Given the description of an element on the screen output the (x, y) to click on. 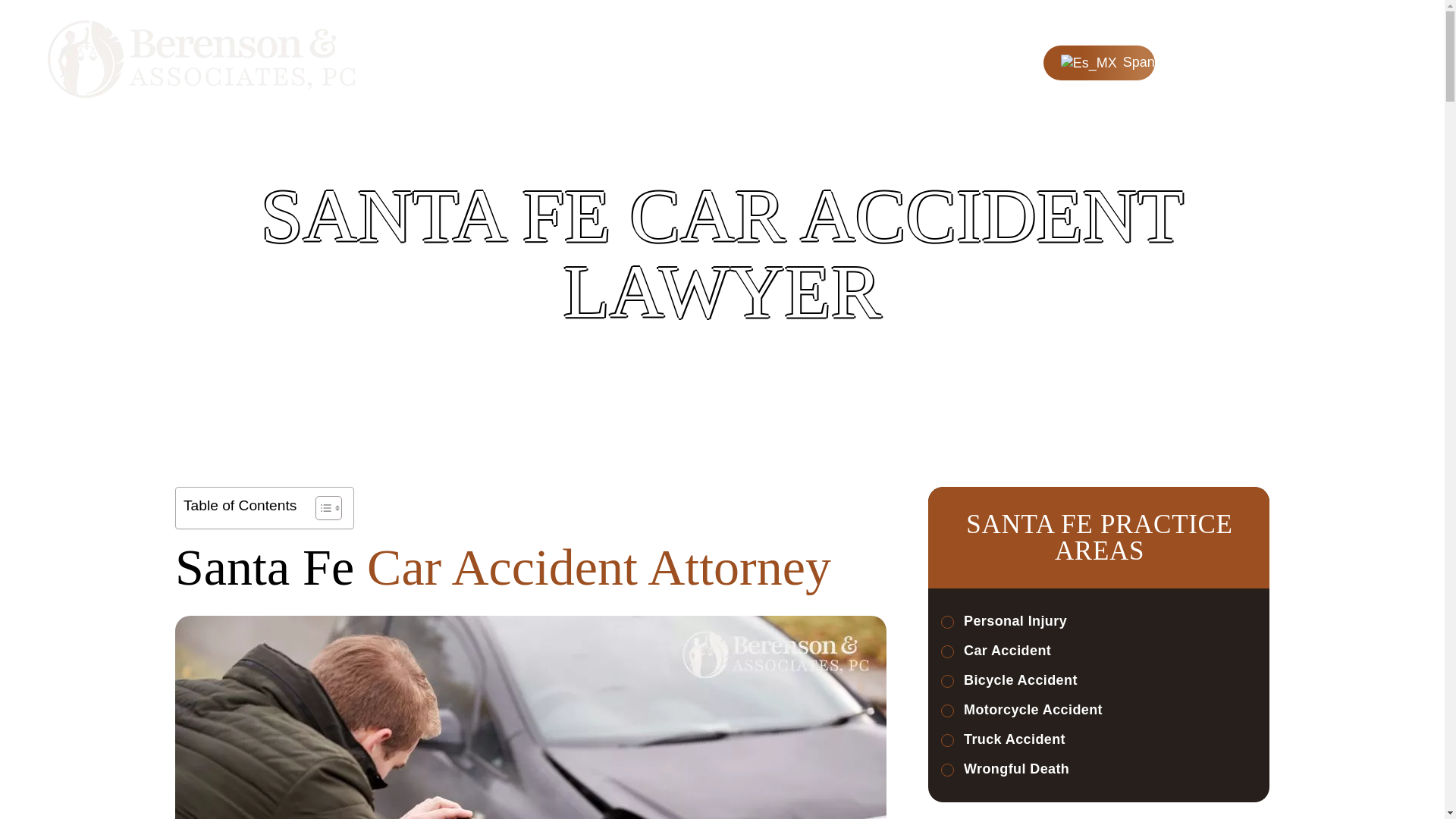
Attorney (546, 61)
About Us (471, 61)
Practice Areas (638, 61)
Home (404, 61)
Locations (735, 61)
